Given the description of an element on the screen output the (x, y) to click on. 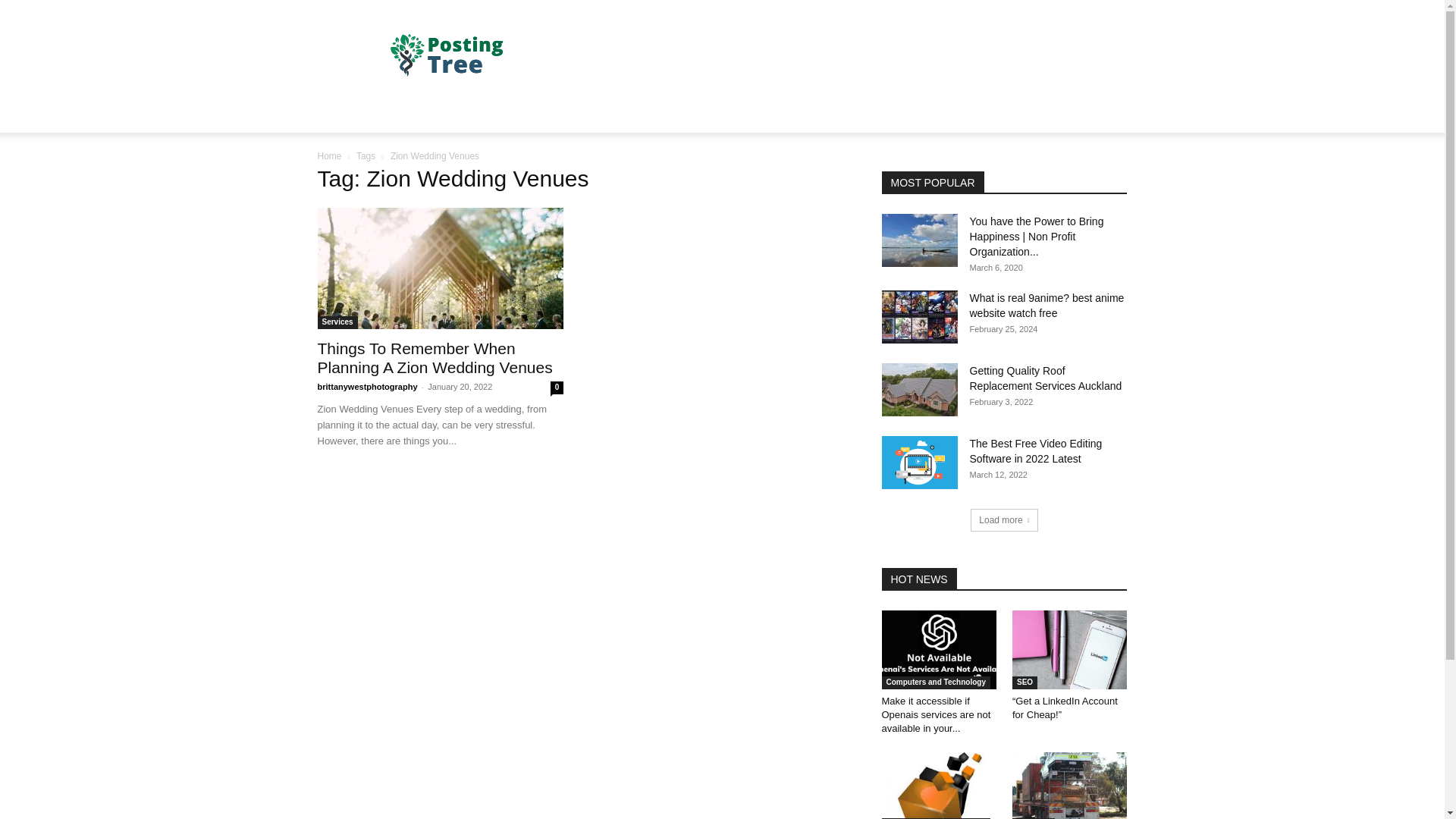
HOME (343, 114)
Services (336, 322)
TECHNOLOGY (557, 114)
EDUCATION (646, 114)
What is real 9anime? best anime website watch free (1046, 305)
Getting Quality Roof Replacement Services Auckland (1045, 378)
HEALTH (477, 114)
Search (1085, 174)
Things To Remember When Planning A Zion Wedding Venues (434, 357)
Things To Remember When Planning A Zion Wedding Venues (439, 268)
